Given the description of an element on the screen output the (x, y) to click on. 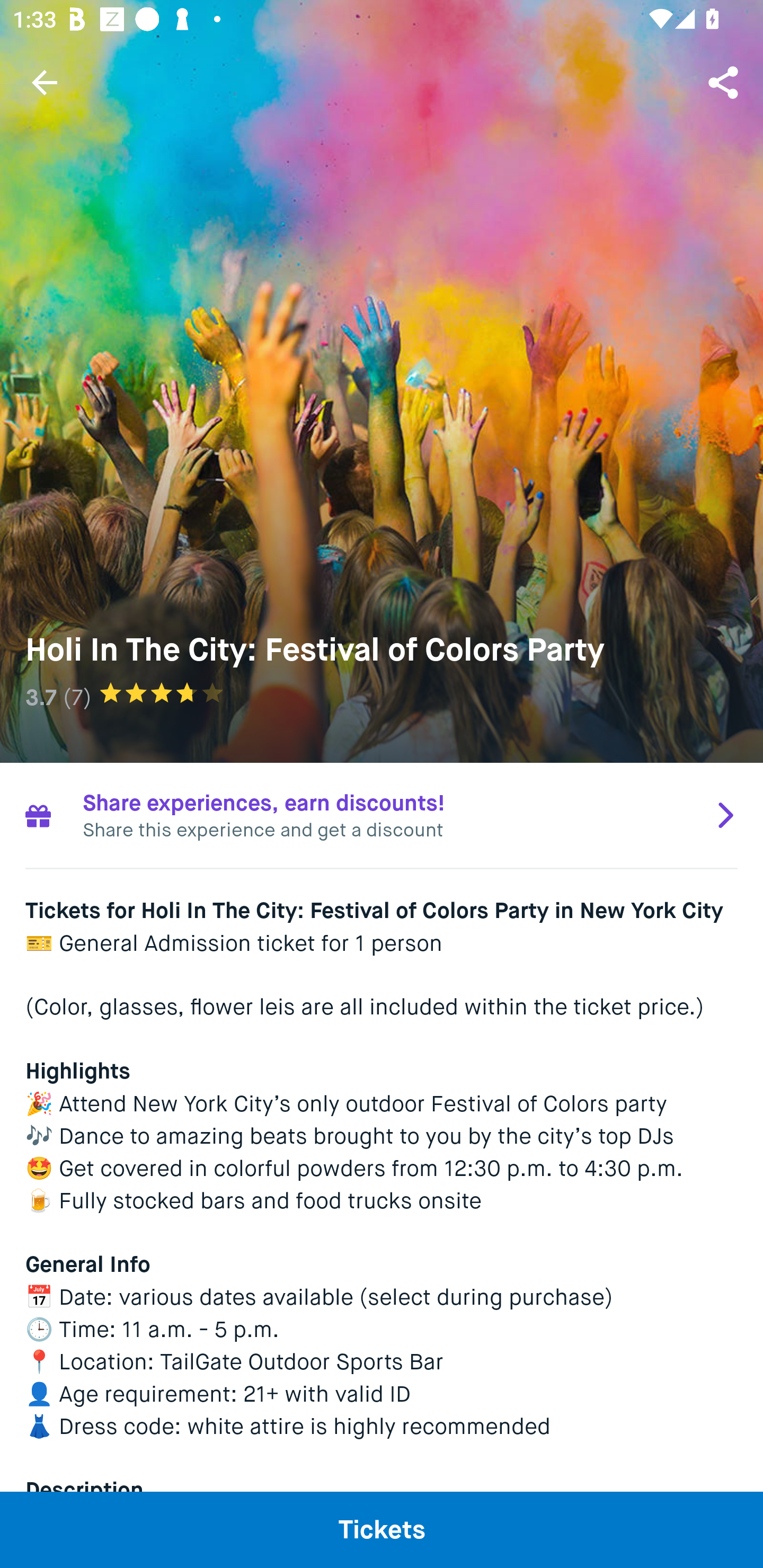
Navigate up (44, 82)
Share (724, 81)
(7) (77, 697)
Tickets (381, 1529)
